Given the description of an element on the screen output the (x, y) to click on. 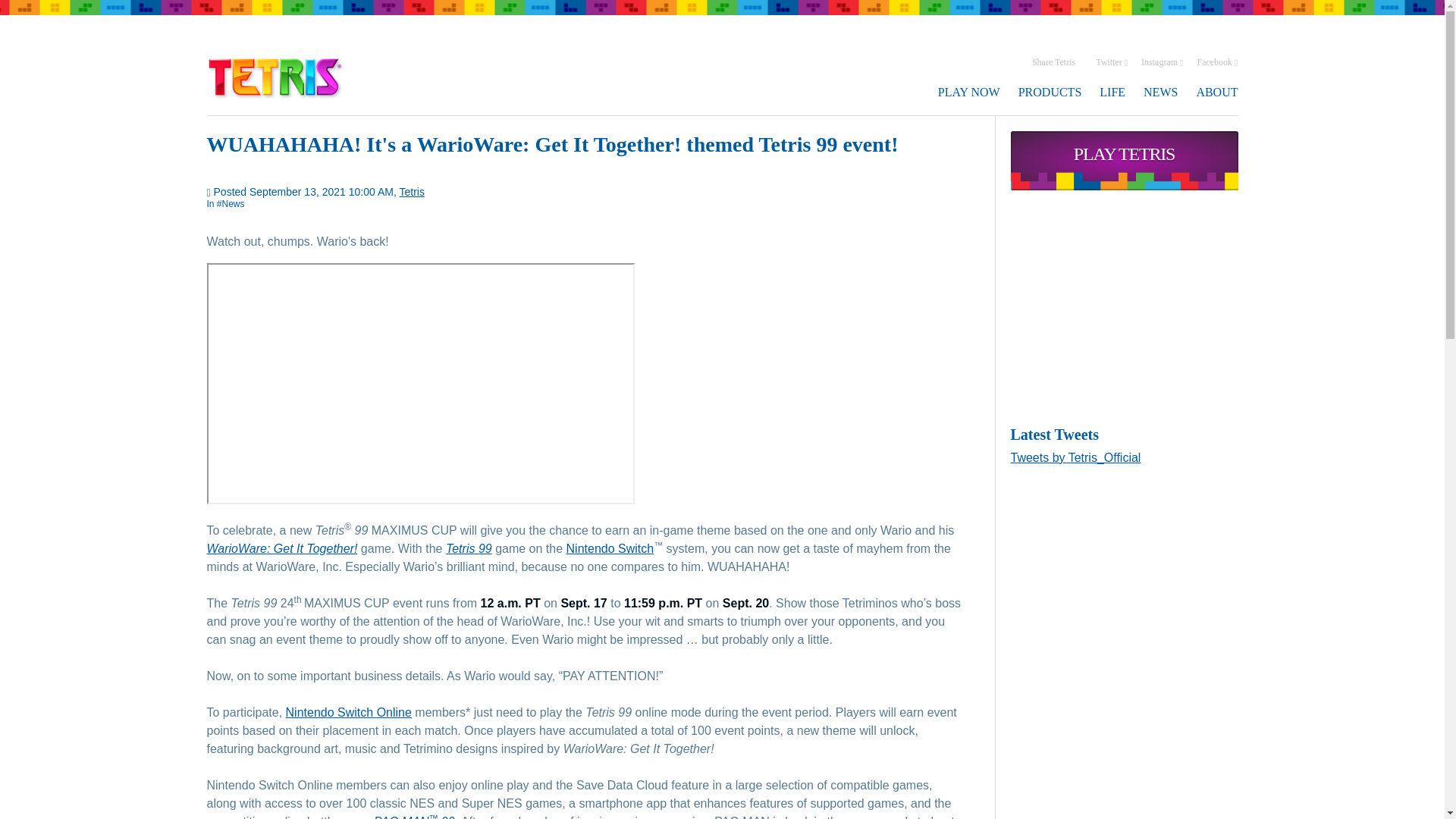
WarioWare: Get It Together! (281, 548)
Nintendo Switch Online (348, 712)
Nintendo Switch (609, 548)
ABOUT (1216, 91)
LIFE (1112, 91)
News (230, 204)
PRODUCTS (1049, 91)
Tetris (410, 191)
PLAY TETRIS (1123, 160)
NEWS (1159, 91)
